Given the description of an element on the screen output the (x, y) to click on. 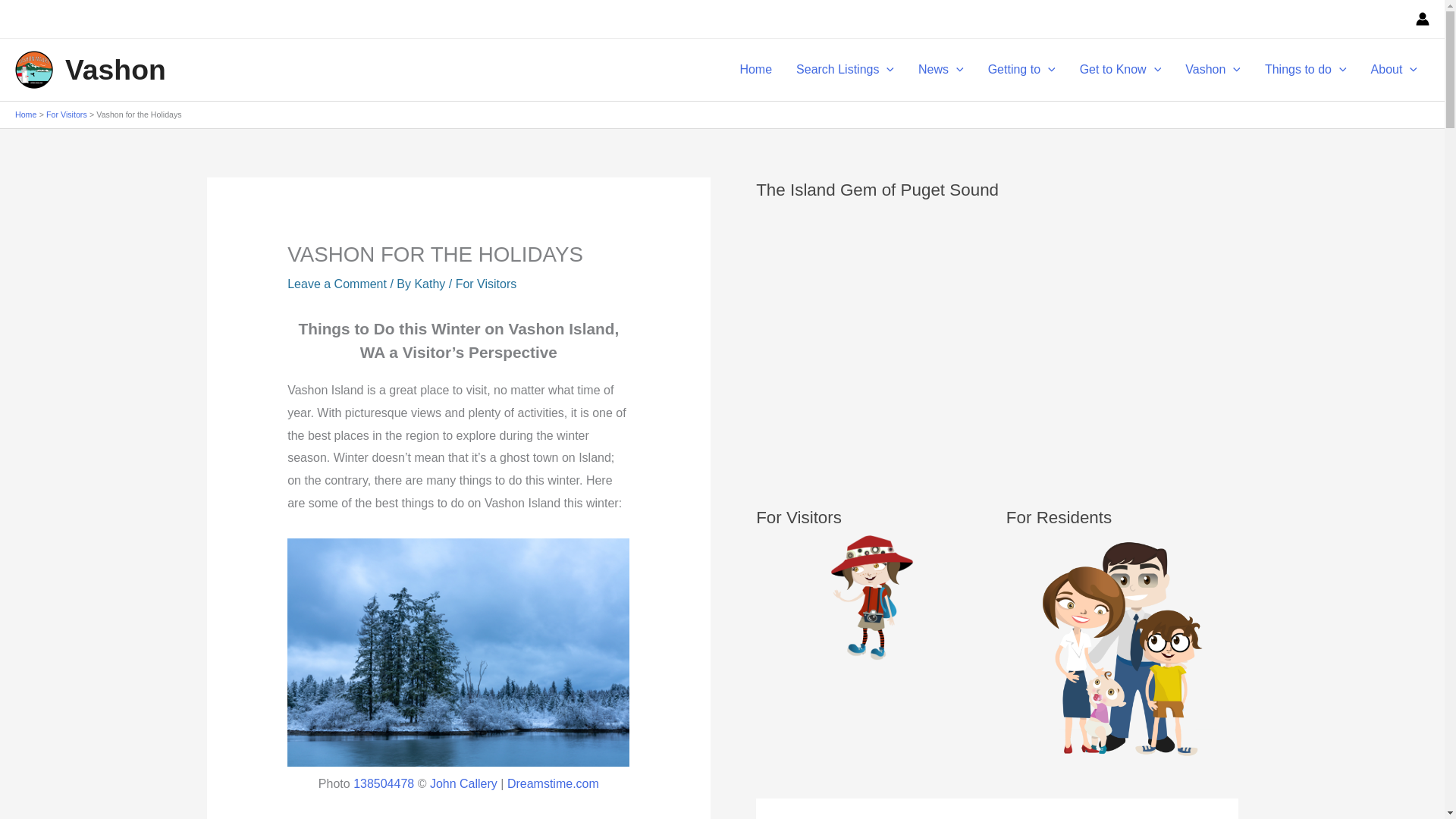
Search Listings (844, 69)
View all posts by Kathy (430, 283)
News (940, 69)
Get to Know (1120, 69)
Getting to (1021, 69)
Home (755, 69)
Vashon (115, 69)
